Given the description of an element on the screen output the (x, y) to click on. 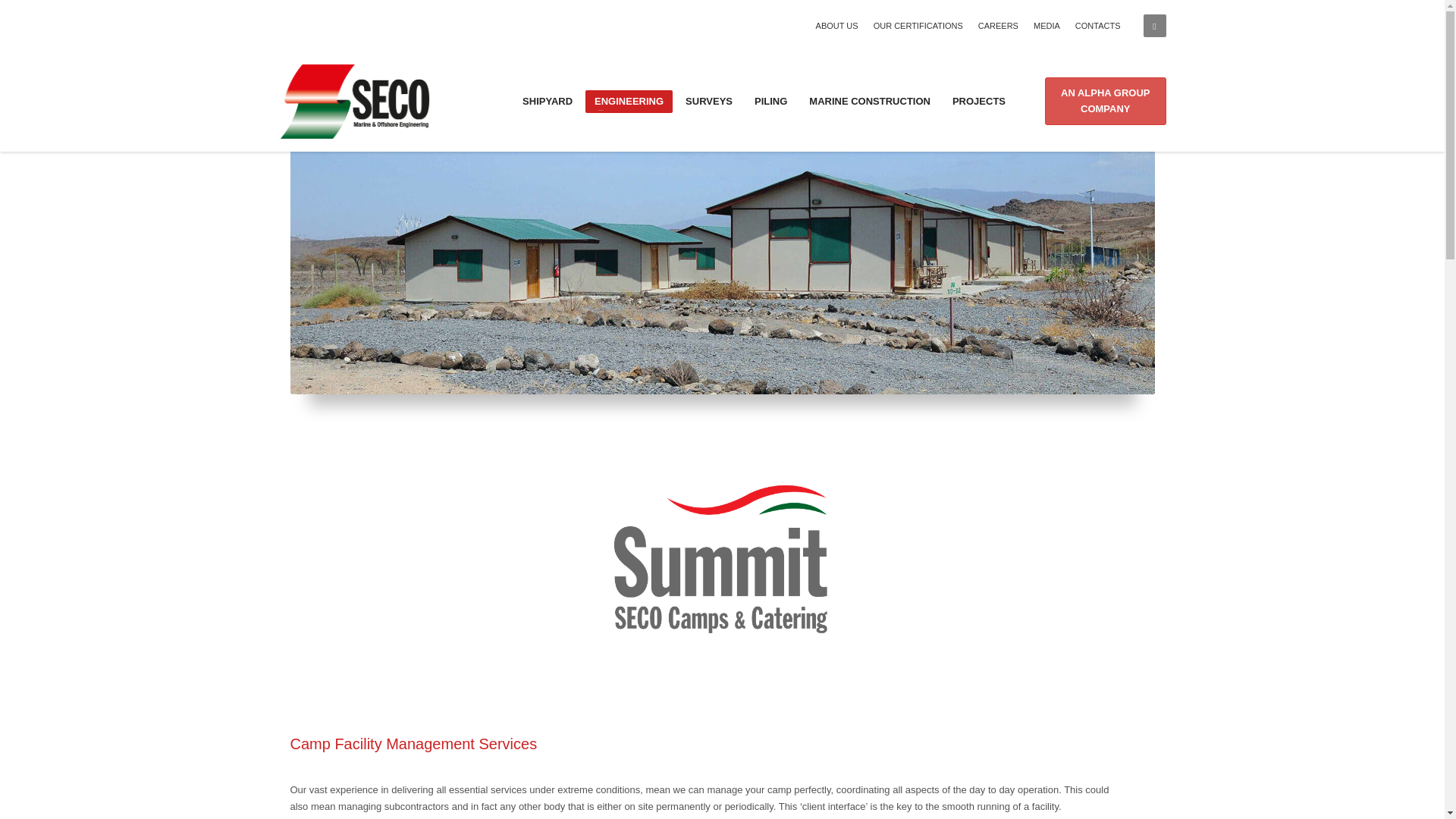
SHIPYARD (546, 100)
ABOUT US (837, 25)
CONTACTS (1098, 25)
ENGINEERING (628, 100)
SUMMIT FINAL 2 (722, 561)
CAREERS (997, 25)
OUR CERTIFICATIONS (917, 25)
MEDIA (1046, 25)
